Given the description of an element on the screen output the (x, y) to click on. 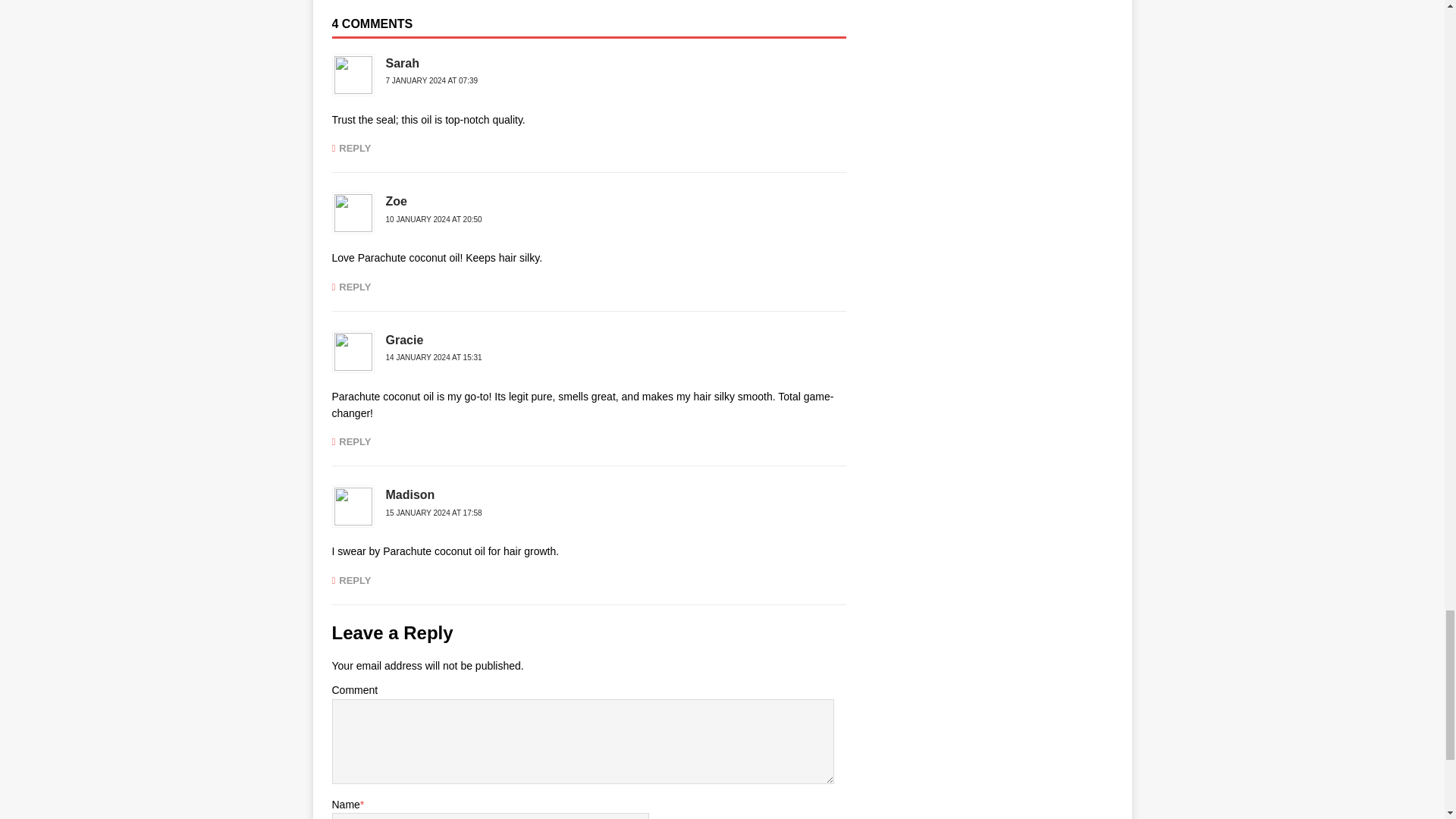
15 JANUARY 2024 AT 17:58 (433, 512)
7 JANUARY 2024 AT 07:39 (431, 80)
10 JANUARY 2024 AT 20:50 (433, 219)
REPLY (351, 286)
REPLY (351, 580)
REPLY (351, 147)
14 JANUARY 2024 AT 15:31 (433, 356)
REPLY (351, 441)
